Given the description of an element on the screen output the (x, y) to click on. 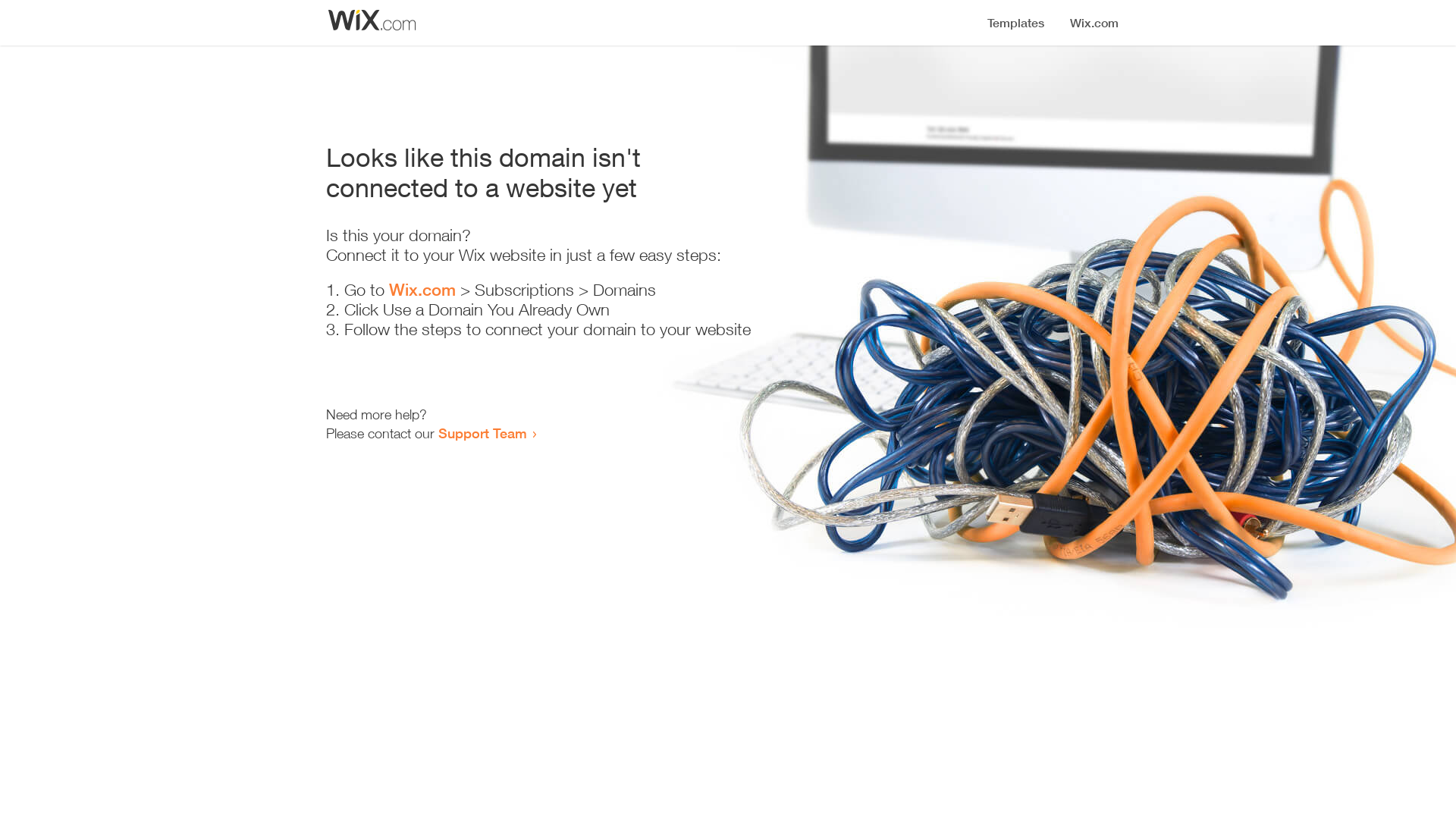
Support Team Element type: text (482, 432)
Wix.com Element type: text (422, 289)
